Given the description of an element on the screen output the (x, y) to click on. 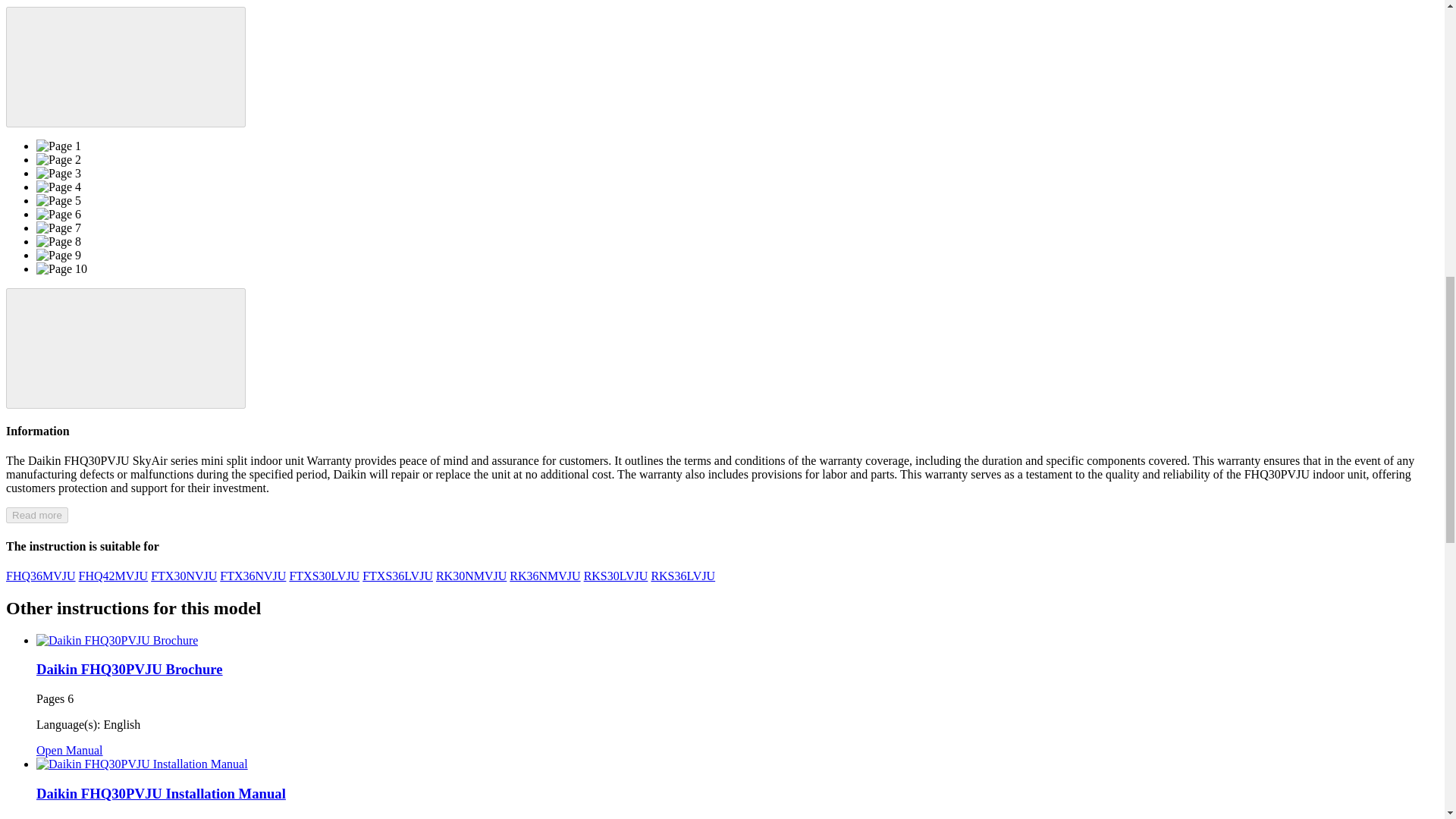
FTXS30LVJU (323, 575)
RKS30LVJU (615, 575)
Daikin FHQ30PVJU Installation Manual (160, 793)
FHQ36MVJU (40, 575)
RK30NMVJU (470, 575)
FTX36NVJU (252, 575)
FTXS36LVJU (397, 575)
FTX30NVJU (183, 575)
Read more (36, 514)
Daikin FHQ30PVJU Brochure (129, 668)
